Given the description of an element on the screen output the (x, y) to click on. 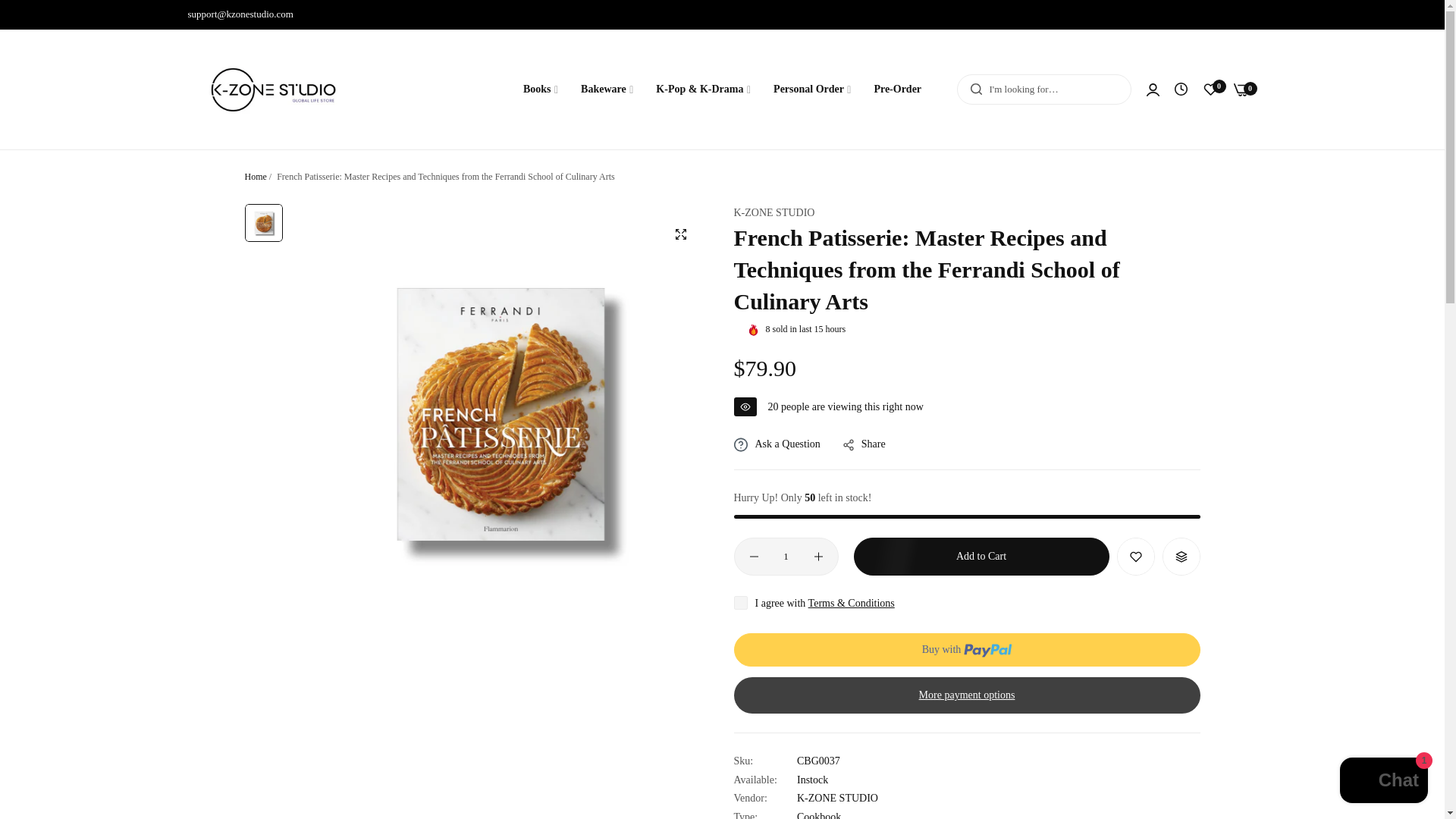
1 (786, 556)
Plus (818, 556)
K-ZONE STUDIO (774, 212)
Bakeware (607, 89)
Shopify online store chat (1383, 781)
K-ZONE STUDIO (272, 89)
Personal Order (811, 89)
Books (540, 89)
Cookbook (818, 815)
Pre-Order (897, 89)
K-ZONE STUDIO (836, 797)
Zoom in (679, 234)
Minus (753, 556)
